Given the description of an element on the screen output the (x, y) to click on. 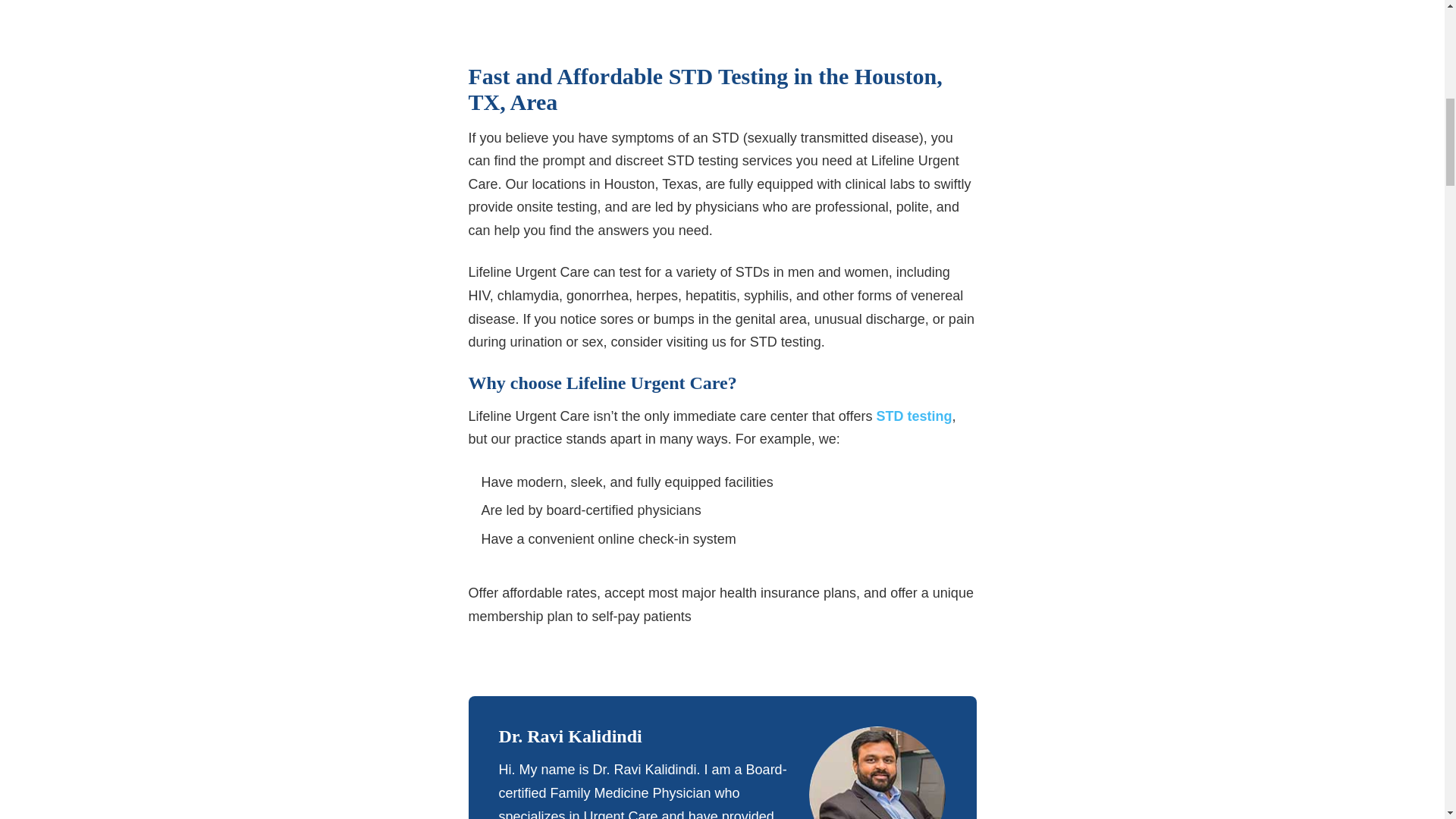
STD testing (912, 416)
